Given the description of an element on the screen output the (x, y) to click on. 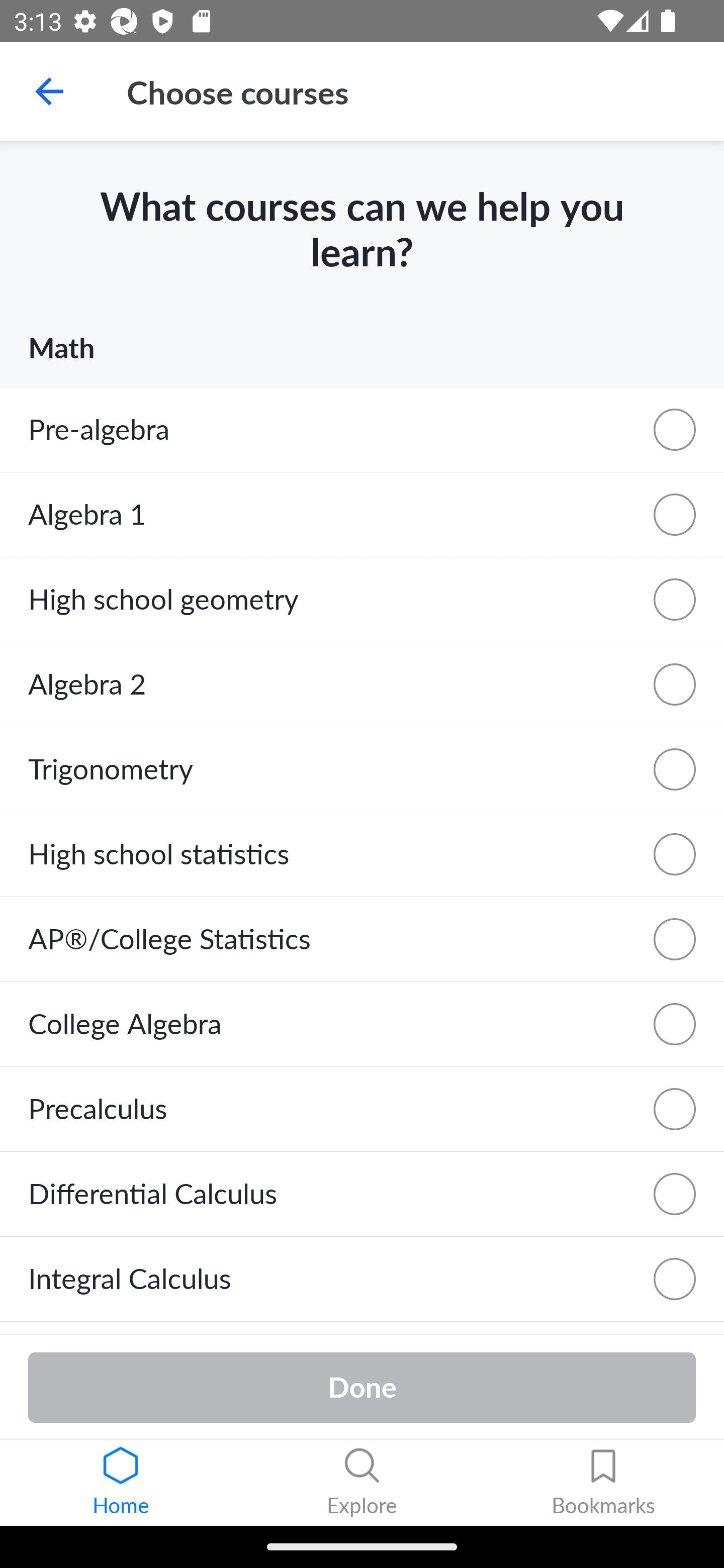
Navigate up (49, 91)
Pre-algebra (362, 429)
Algebra 1 (362, 513)
High school geometry (362, 599)
Algebra 2 (362, 684)
Trigonometry (362, 769)
High school statistics (362, 854)
AP®︎/College Statistics (362, 938)
College Algebra (362, 1023)
Precalculus (362, 1109)
Differential Calculus (362, 1194)
Integral Calculus (362, 1279)
Done (361, 1386)
Home (120, 1482)
Explore (361, 1482)
Bookmarks (603, 1482)
